Given the description of an element on the screen output the (x, y) to click on. 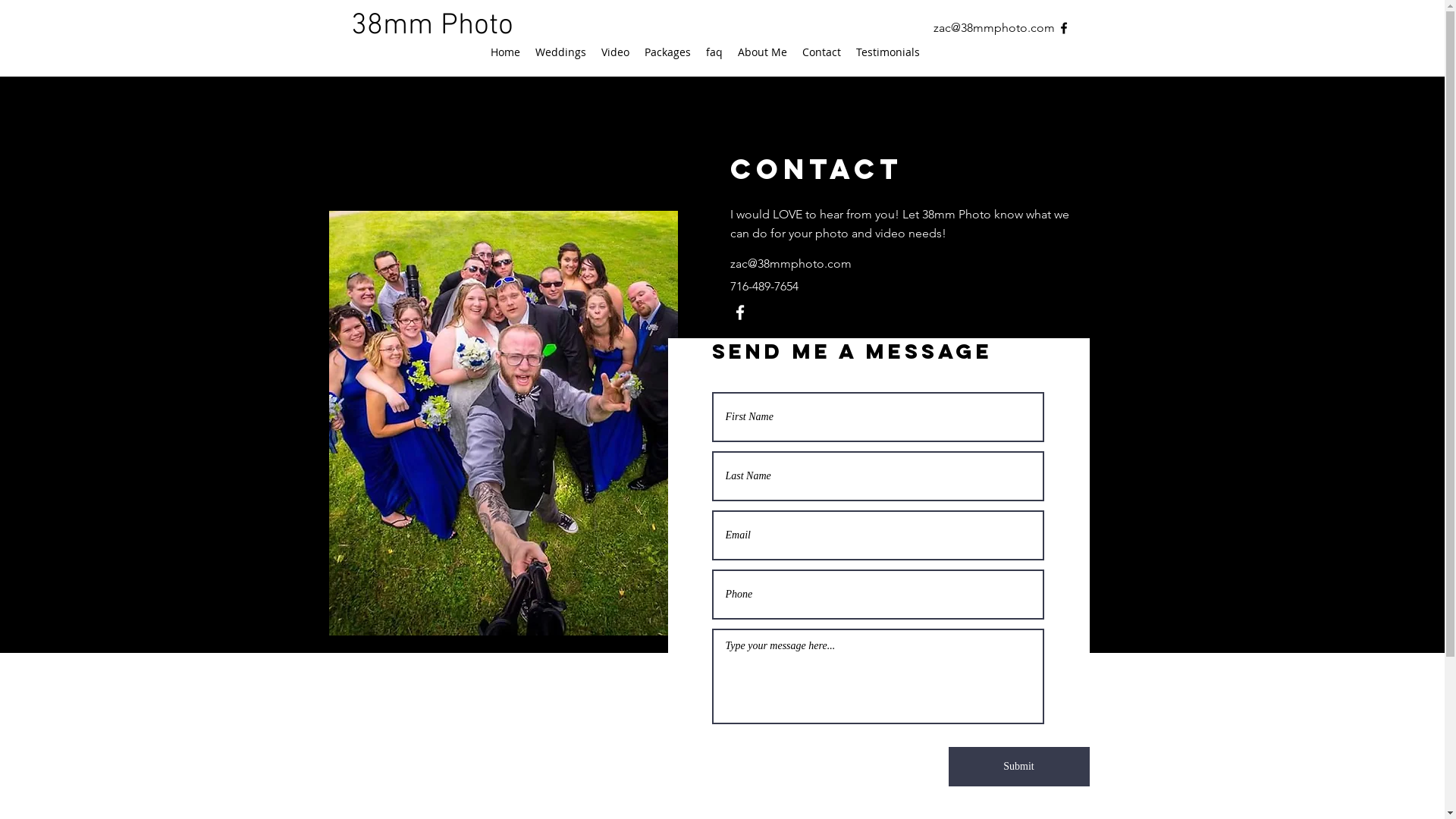
Contact Element type: text (821, 51)
zac@38mmphoto.com Element type: text (993, 27)
Home Element type: text (504, 51)
Testimonials Element type: text (886, 51)
zac@38mmphoto.com Element type: text (789, 263)
Submit Element type: text (1017, 766)
Video Element type: text (614, 51)
faq Element type: text (713, 51)
Weddings Element type: text (560, 51)
Packages Element type: text (667, 51)
About Me Element type: text (761, 51)
